Given the description of an element on the screen output the (x, y) to click on. 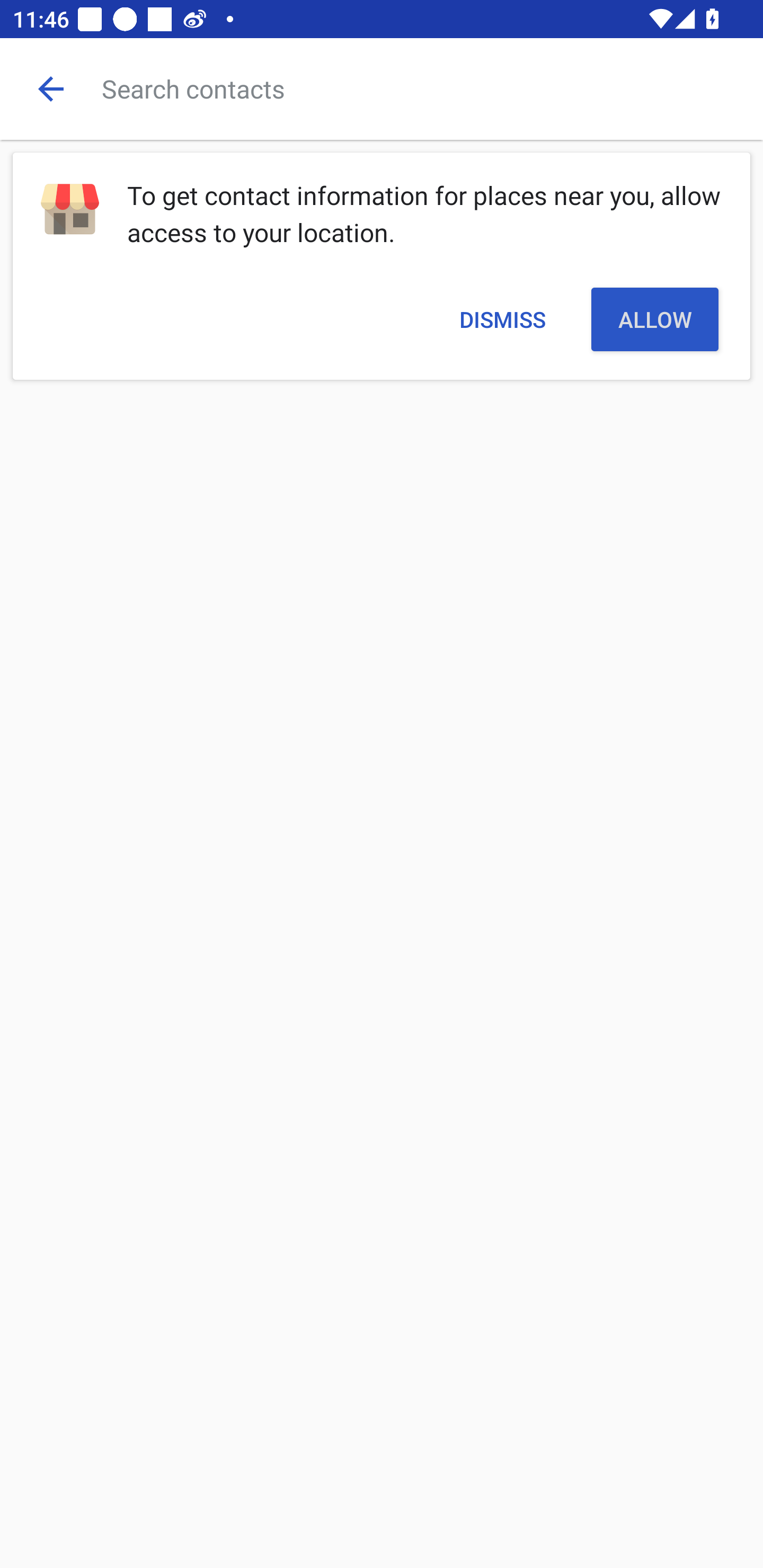
stop searching (50, 88)
Search contacts (432, 88)
DISMISS (502, 318)
ALLOW (654, 318)
